Given the description of an element on the screen output the (x, y) to click on. 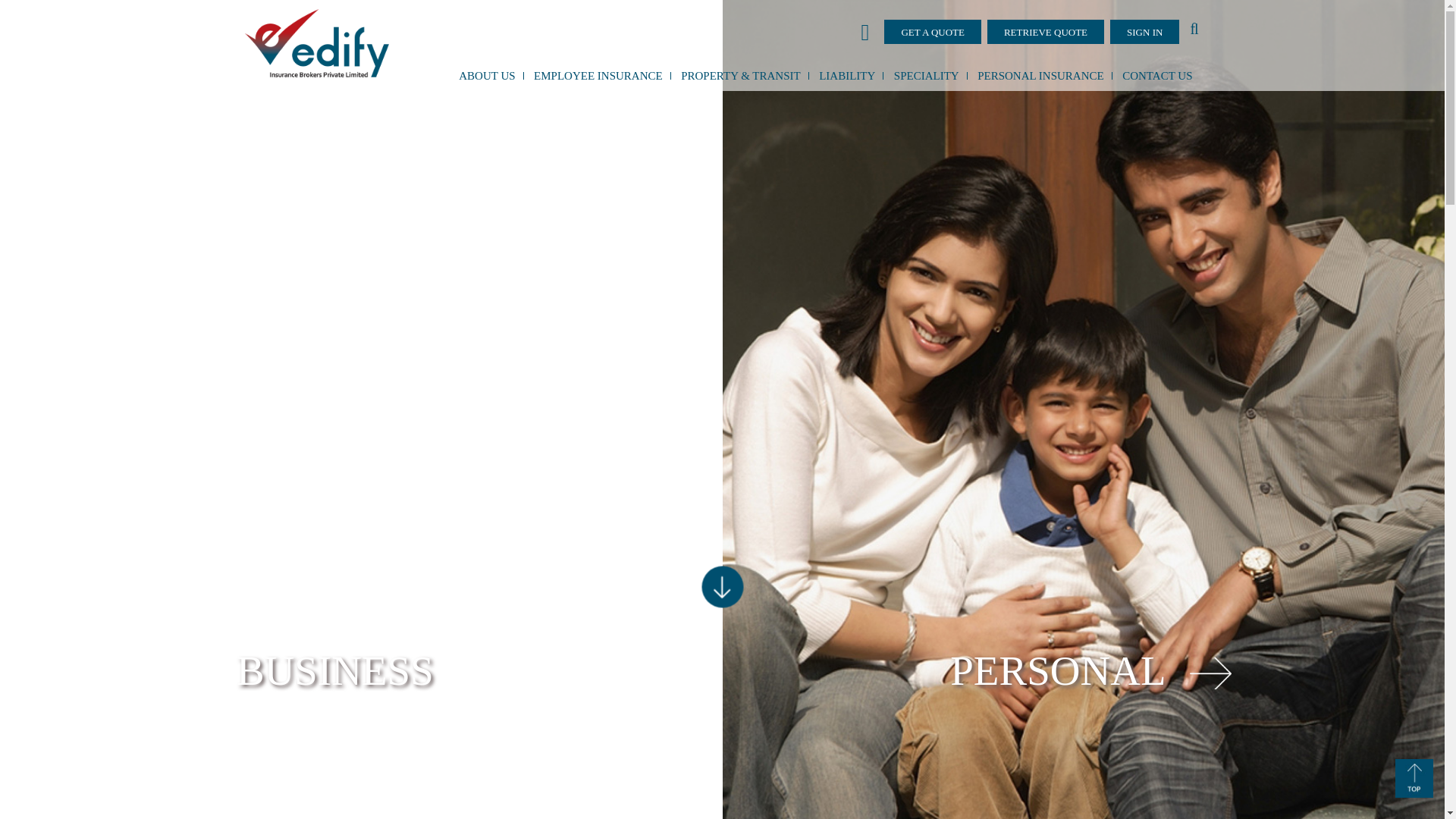
ABOUT US (486, 75)
GET A QUOTE (932, 31)
LIABILITY (846, 75)
EMPLOYEE INSURANCE (598, 75)
RETRIEVE QUOTE (1045, 31)
SPECIALITY (927, 75)
SIGN IN (1144, 31)
